Given the description of an element on the screen output the (x, y) to click on. 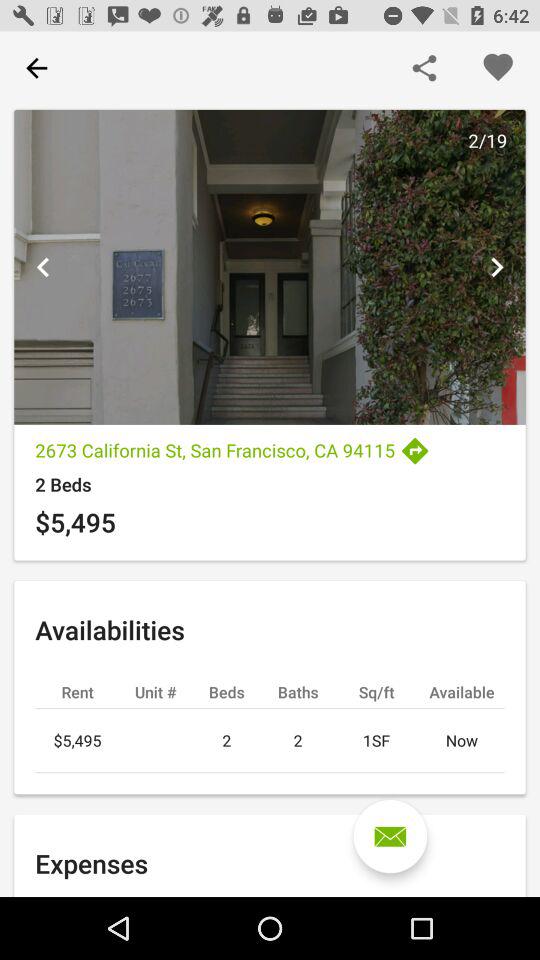
select the icon below the 2 icon (389, 836)
